Given the description of an element on the screen output the (x, y) to click on. 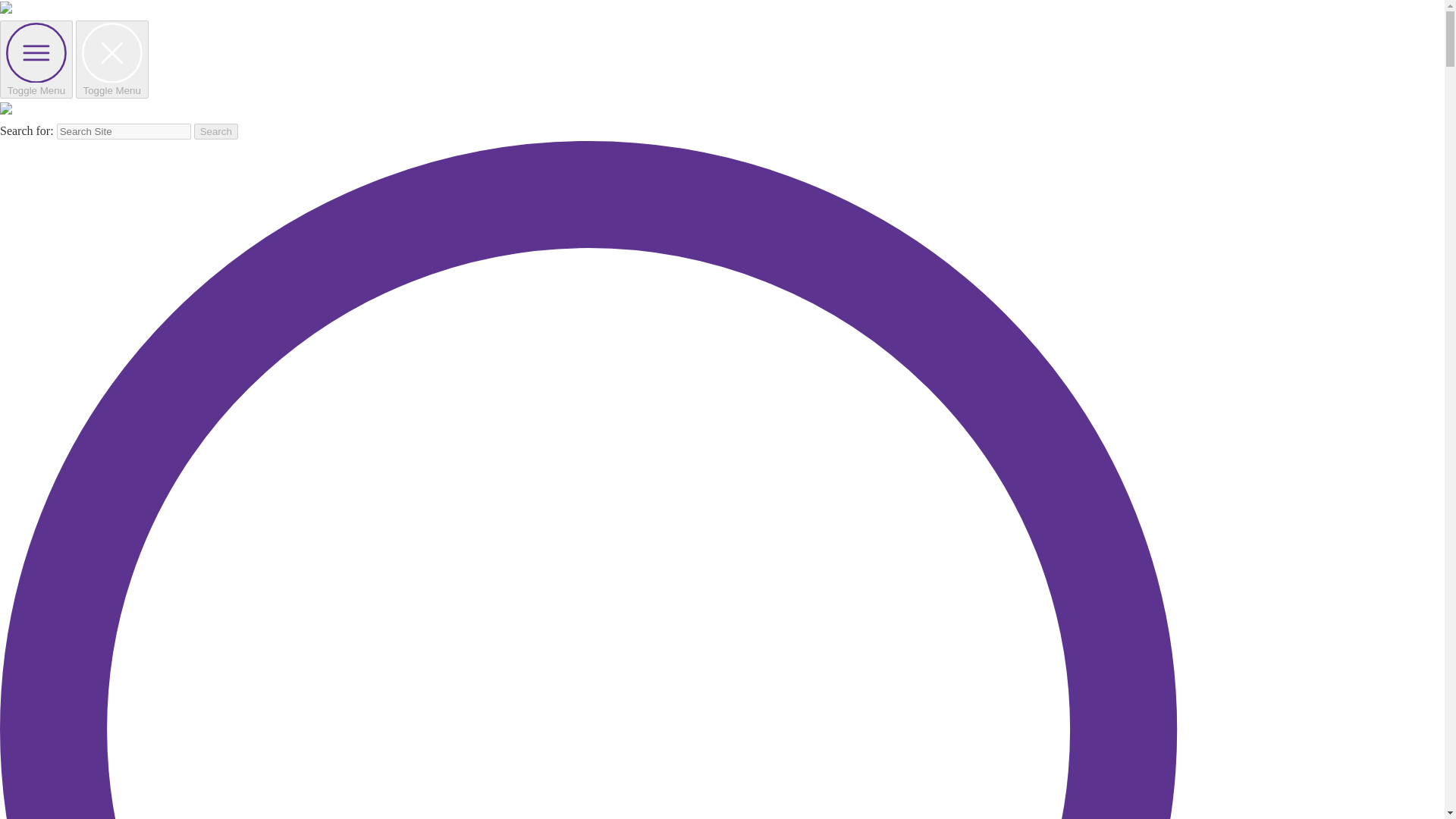
Search (215, 131)
Search (215, 131)
Search (215, 131)
